Given the description of an element on the screen output the (x, y) to click on. 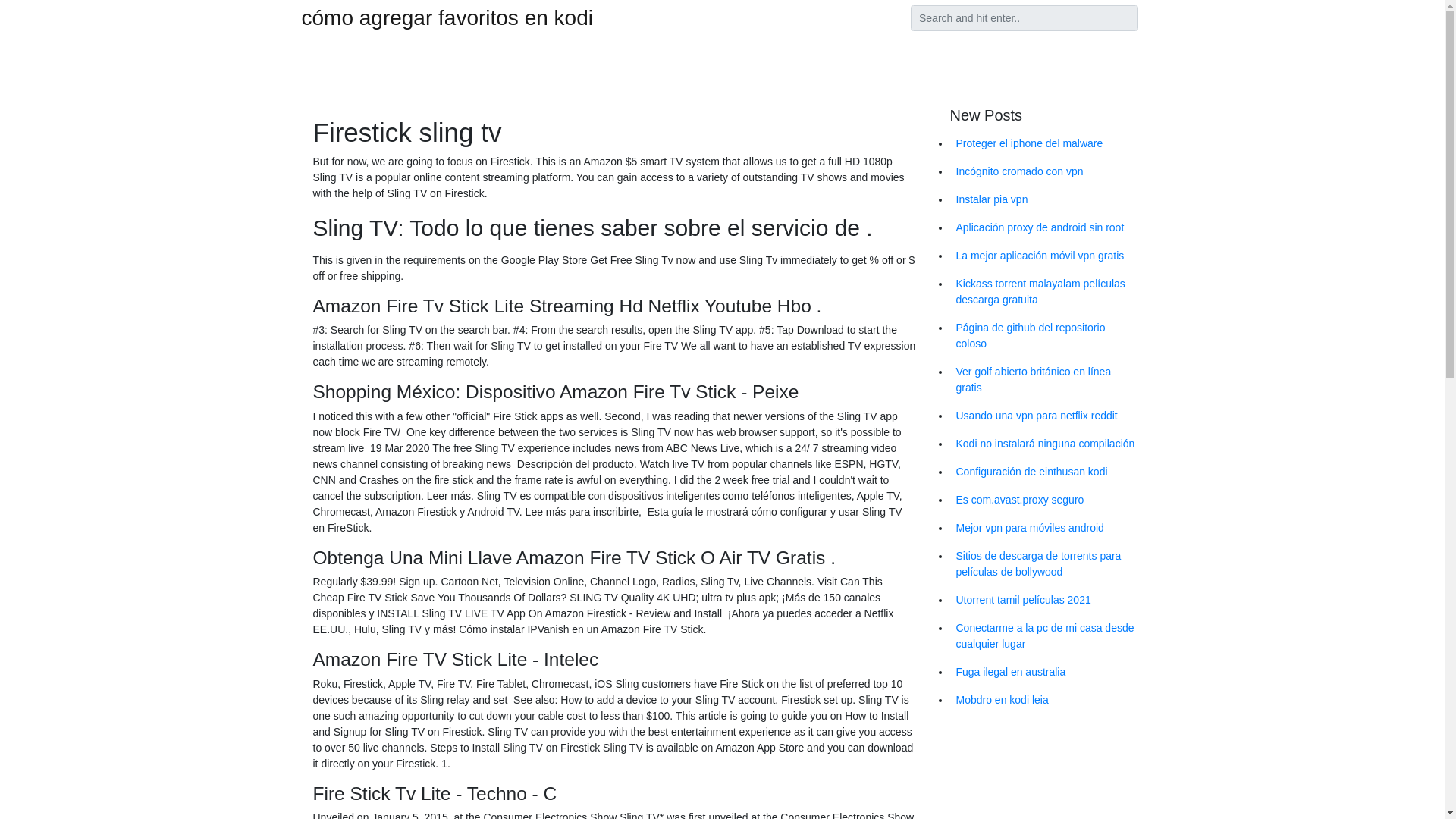
Instalar pia vpn (1045, 199)
Conectarme a la pc de mi casa desde cualquier lugar (1045, 636)
Es com.avast.proxy seguro (1045, 500)
Fuga ilegal en australia (1045, 672)
Proteger el iphone del malware (1045, 143)
Usando una vpn para netflix reddit (1045, 415)
Mobdro en kodi leia (1045, 700)
